Given the description of an element on the screen output the (x, y) to click on. 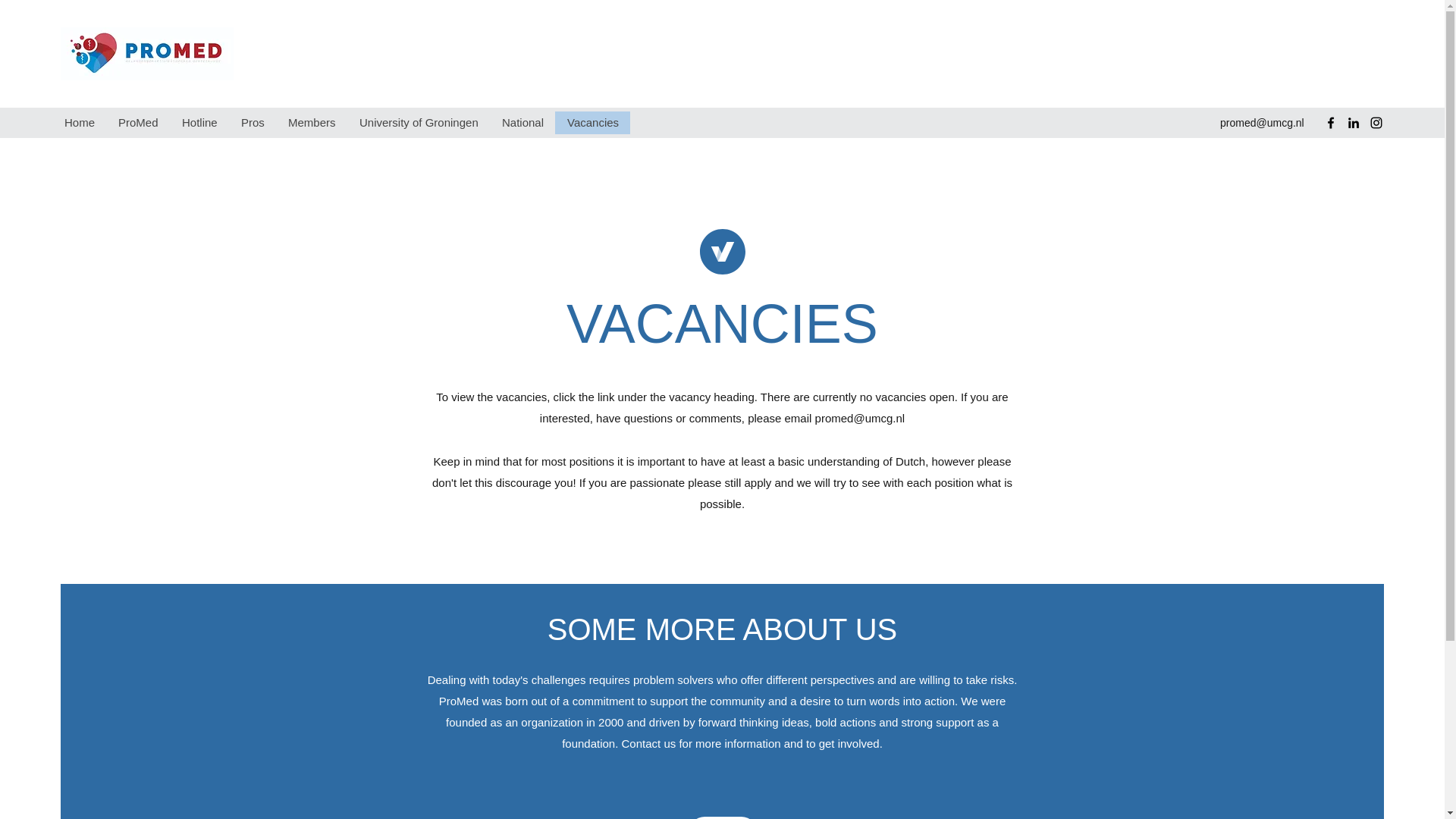
National (521, 122)
Members (311, 122)
Home (79, 122)
Hotline (199, 122)
Pros (252, 122)
University of Groningen (418, 122)
ProMed (138, 122)
Vacancies (592, 122)
